Given the description of an element on the screen output the (x, y) to click on. 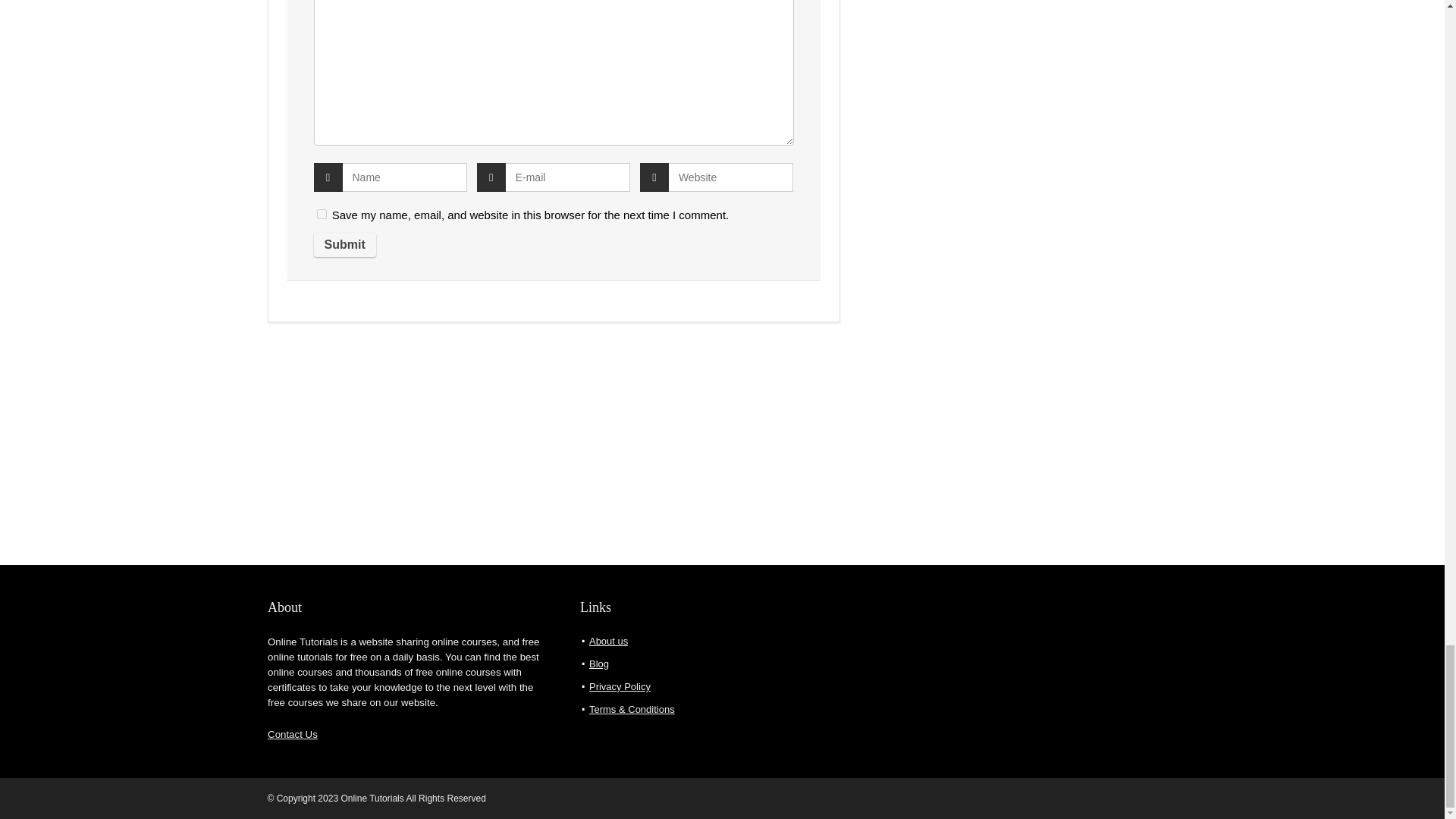
Submit (344, 244)
yes (321, 214)
